Given the description of an element on the screen output the (x, y) to click on. 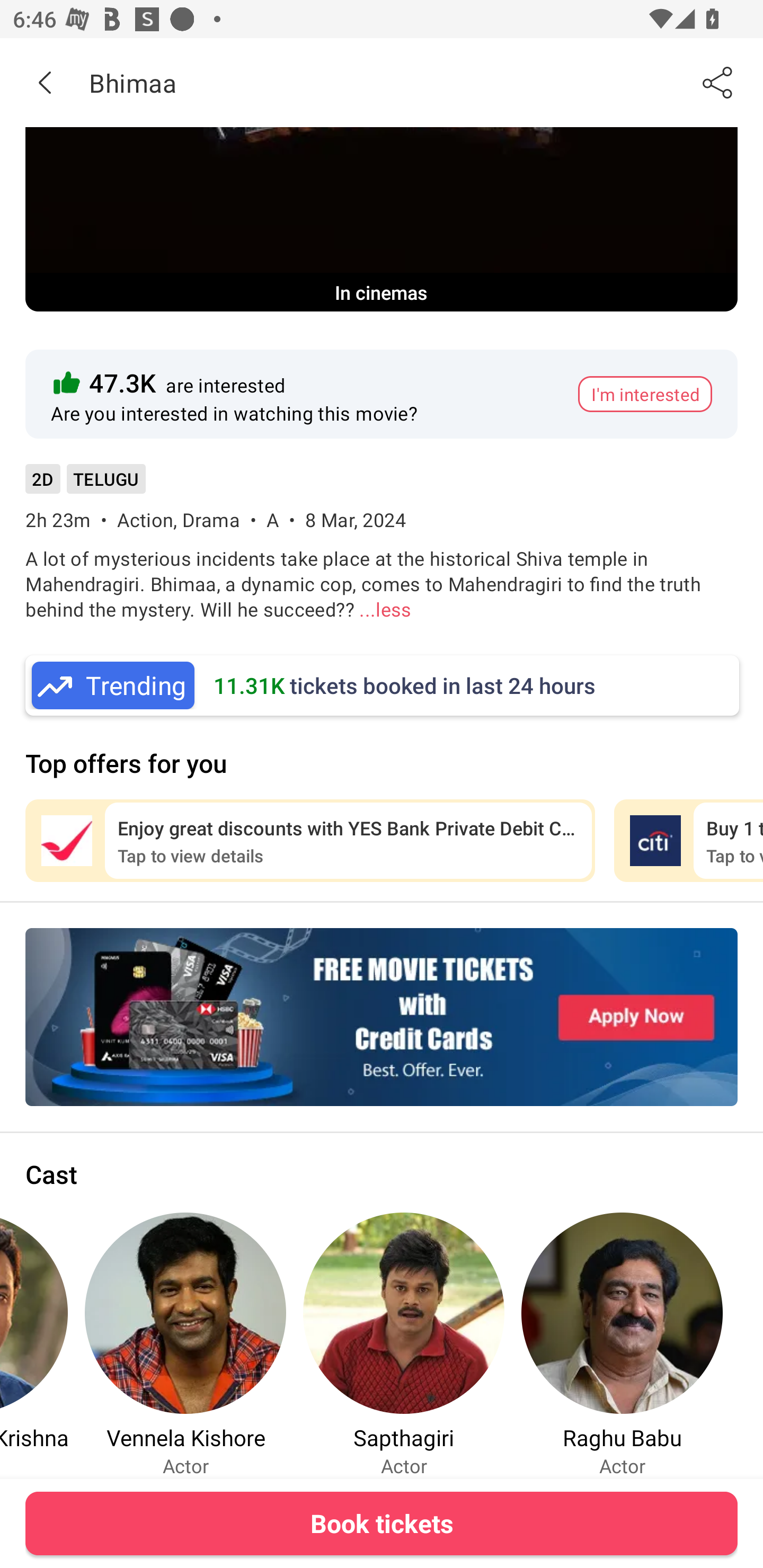
Back (44, 82)
Share (718, 82)
Movie Banner In cinemas (381, 219)
I'm interested (644, 394)
2D TELUGU (85, 485)
Vennela Kishore Actor (185, 1344)
Sapthagiri Actor (403, 1344)
Raghu Babu Actor (621, 1344)
Book tickets (381, 1523)
